Given the description of an element on the screen output the (x, y) to click on. 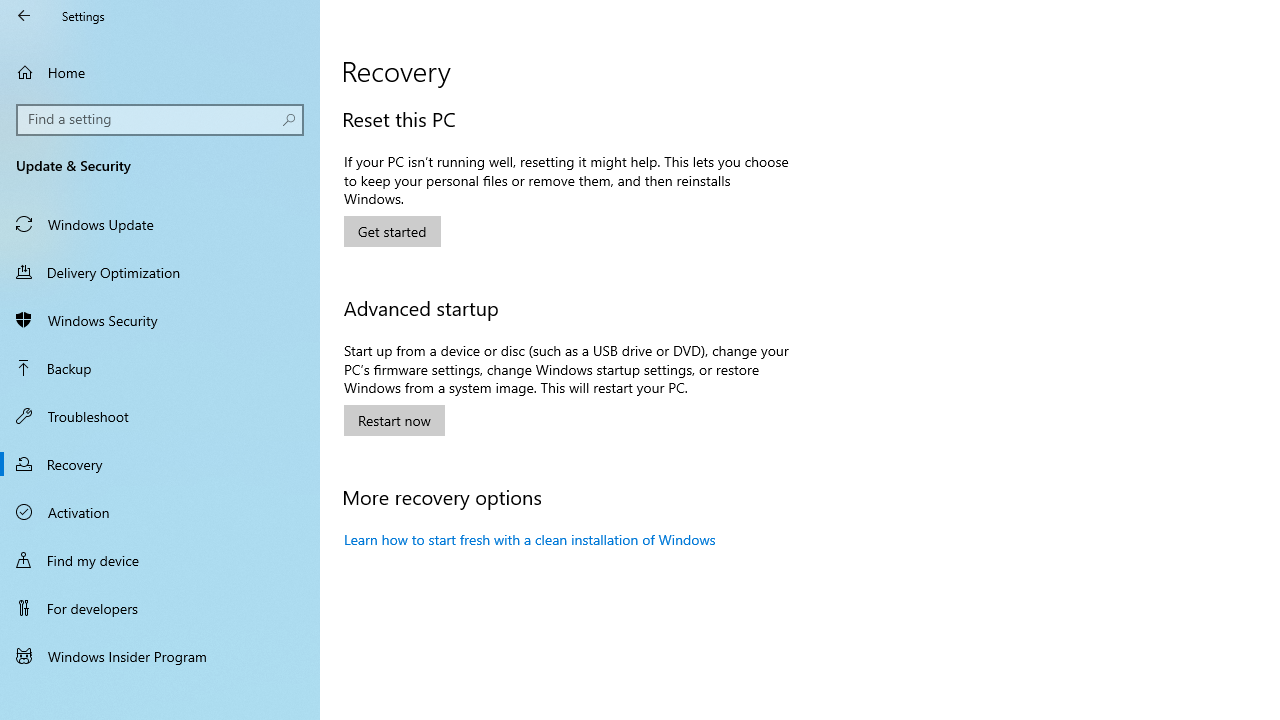
Home (160, 71)
